Given the description of an element on the screen output the (x, y) to click on. 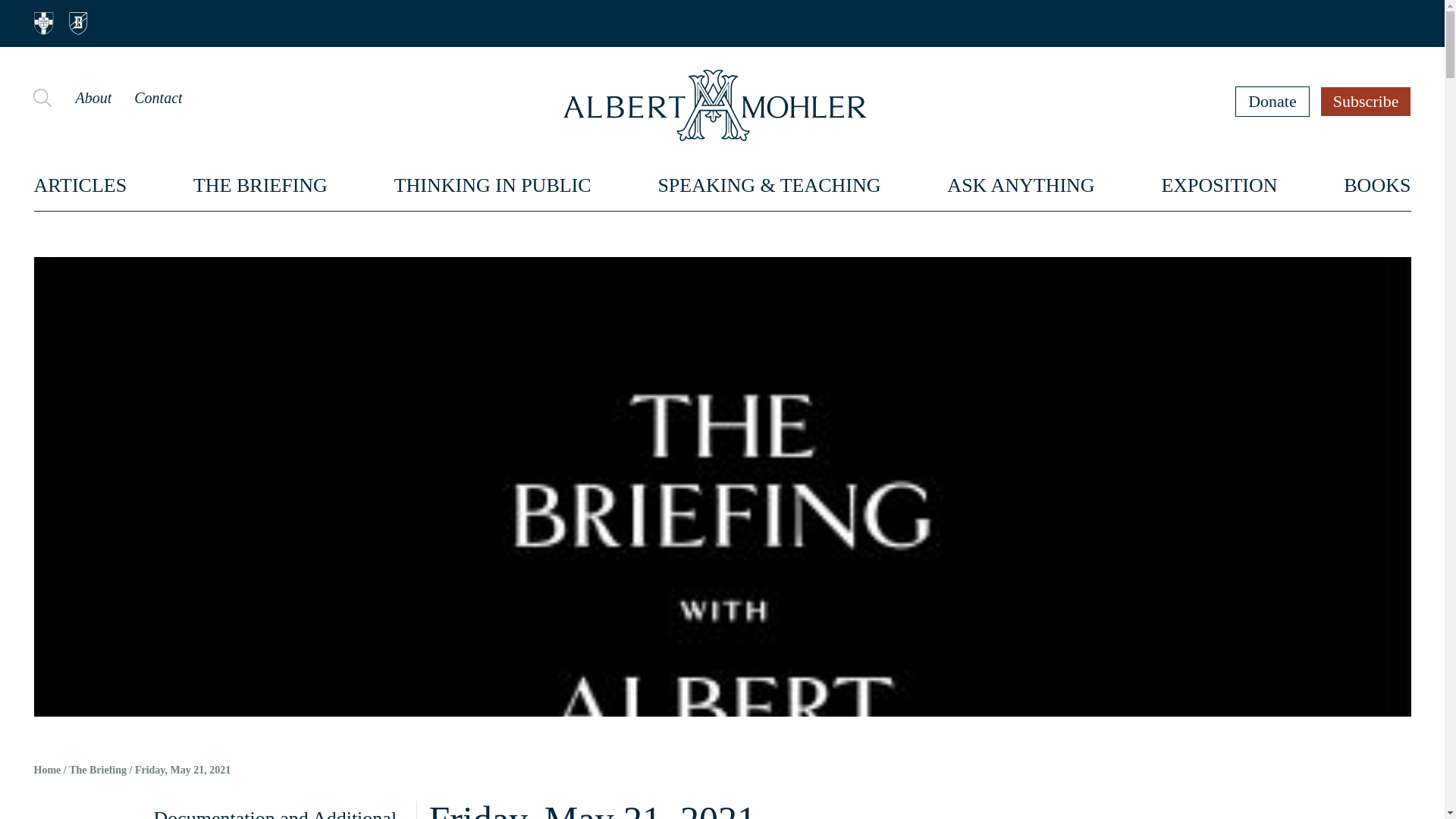
THE BRIEFING (260, 185)
THINKING IN PUBLIC (492, 185)
ASK ANYTHING (1020, 185)
BOOKS (1376, 185)
Subscribe (1366, 101)
The Briefing (97, 770)
Contact (157, 97)
About (93, 97)
Home (47, 770)
Donate (1272, 101)
ARTICLES (79, 185)
EXPOSITION (1218, 185)
